Given the description of an element on the screen output the (x, y) to click on. 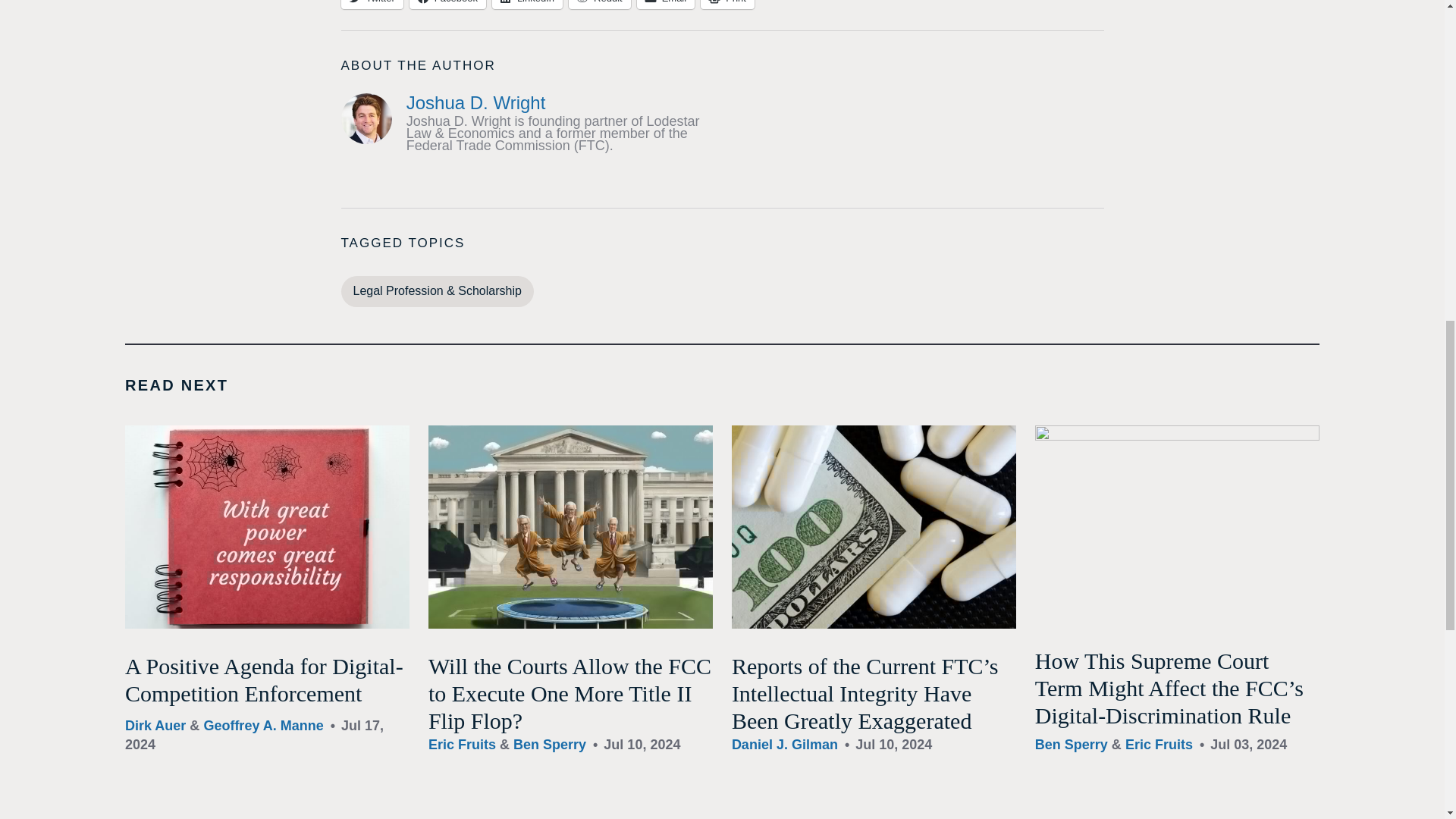
A Positive Agenda for Digital-Competition Enforcement (264, 679)
Eric Fruits (462, 744)
Click to share on Facebook (447, 4)
Ben Sperry (549, 744)
Click to email a link to a friend (666, 4)
Geoffrey A. Manne (263, 725)
Click to share on Twitter (371, 4)
Click to share on Reddit (599, 4)
Reddit (599, 4)
Click to share on LinkedIn (527, 4)
Click to print (727, 4)
Facebook (447, 4)
Dirk Auer (155, 725)
LinkedIn (527, 4)
